Given the description of an element on the screen output the (x, y) to click on. 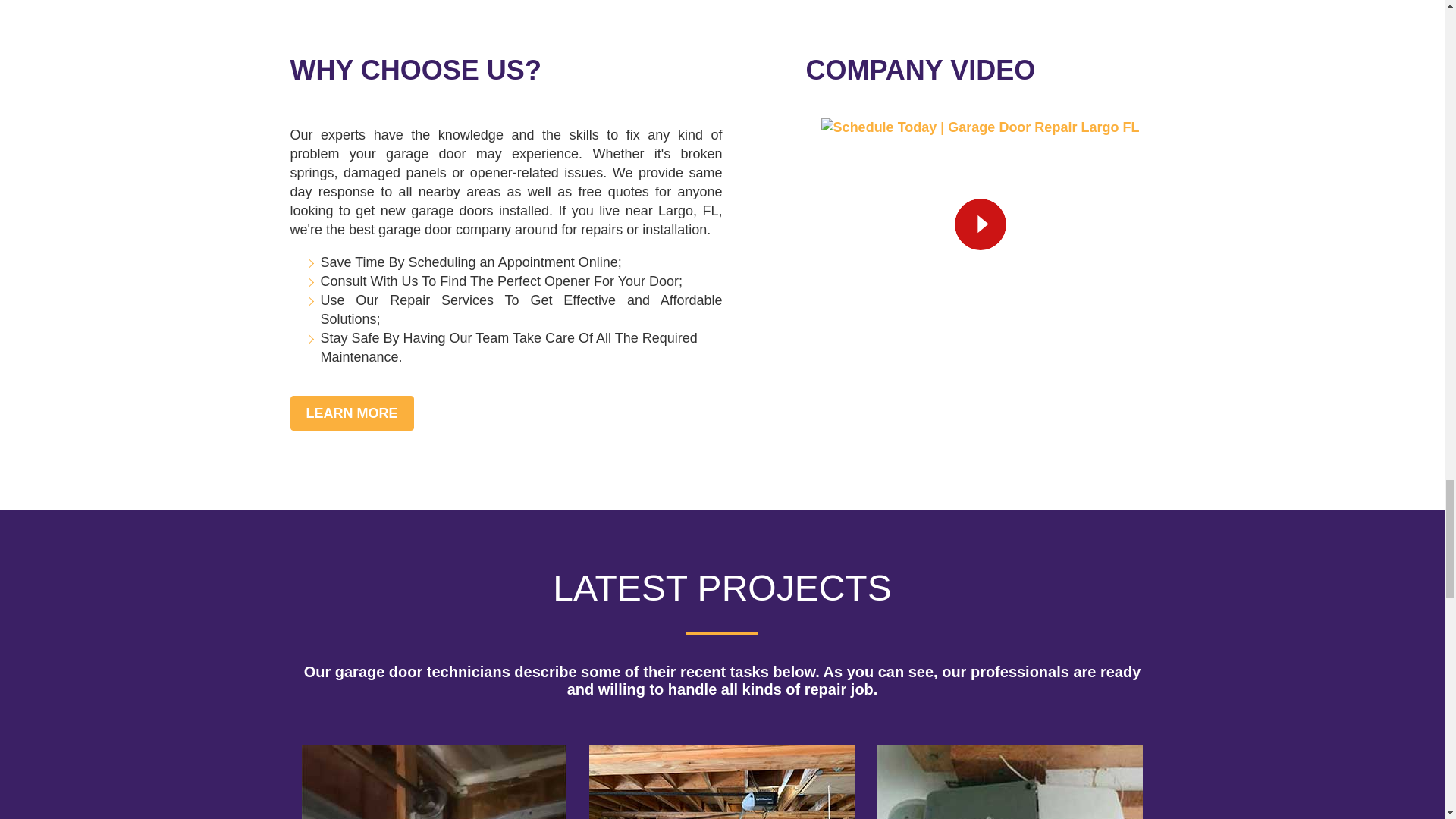
Garage Door Cable Replacement, Harbor Hills (434, 782)
